Given the description of an element on the screen output the (x, y) to click on. 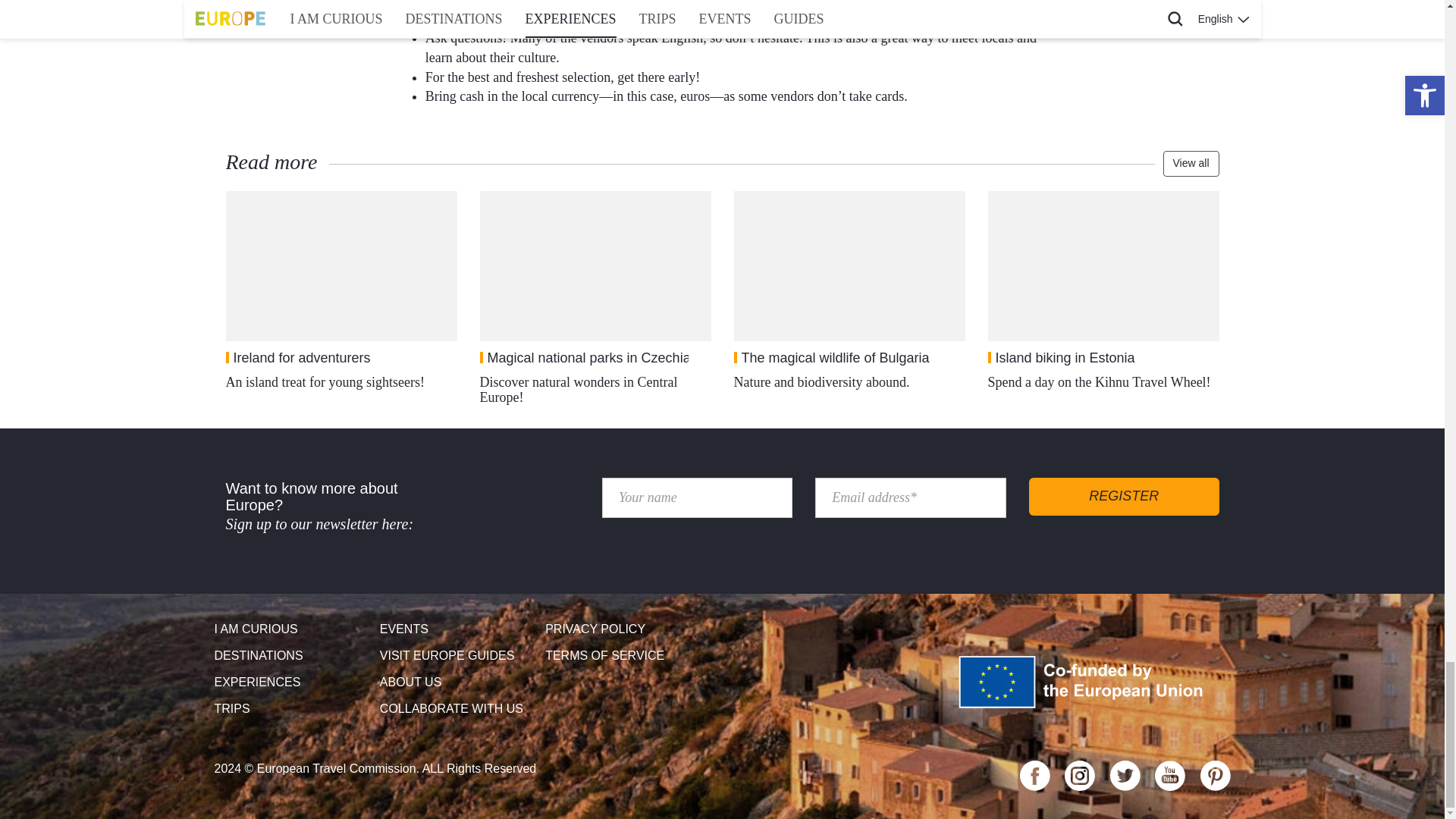
VISIT EUROPE GUIDES (457, 655)
I AM CURIOUS (291, 629)
Register (1124, 496)
TRIPS (291, 709)
EVENTS (457, 629)
ABOUT US (457, 682)
I AM CURIOUS (291, 629)
TERMS OF SERVICE (621, 655)
EXPERIENCES (291, 682)
view all (1191, 163)
COLLABORATE WITH US (457, 709)
Register (1124, 496)
